Given the description of an element on the screen output the (x, y) to click on. 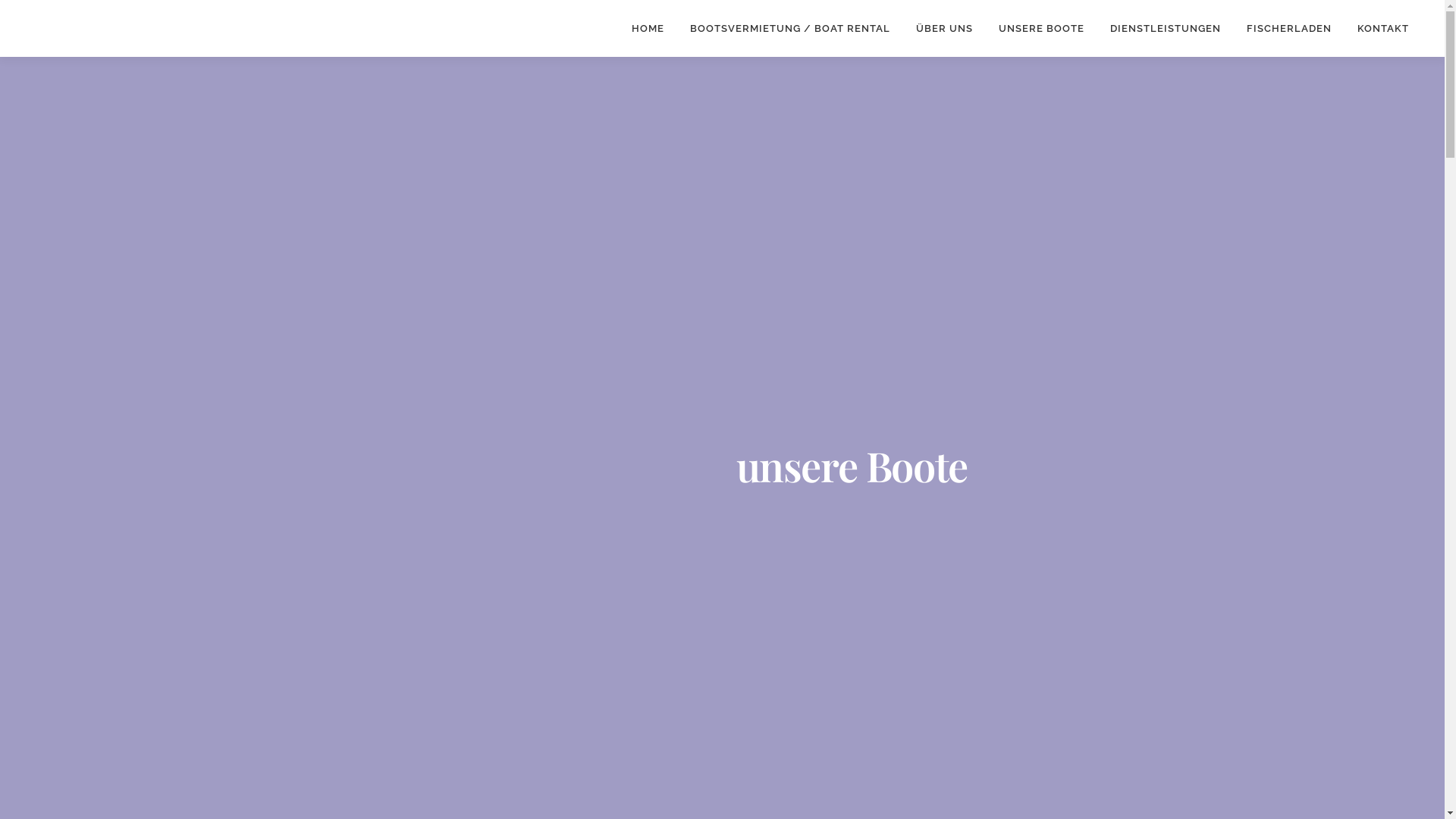
DIENSTLEISTUNGEN Element type: text (1165, 28)
BOOTSVERMIETUNG / BOAT RENTAL Element type: text (790, 28)
KONTAKT Element type: text (1382, 28)
HOME Element type: text (647, 28)
FISCHERLADEN Element type: text (1288, 28)
UNSERE BOOTE Element type: text (1041, 28)
